Given the description of an element on the screen output the (x, y) to click on. 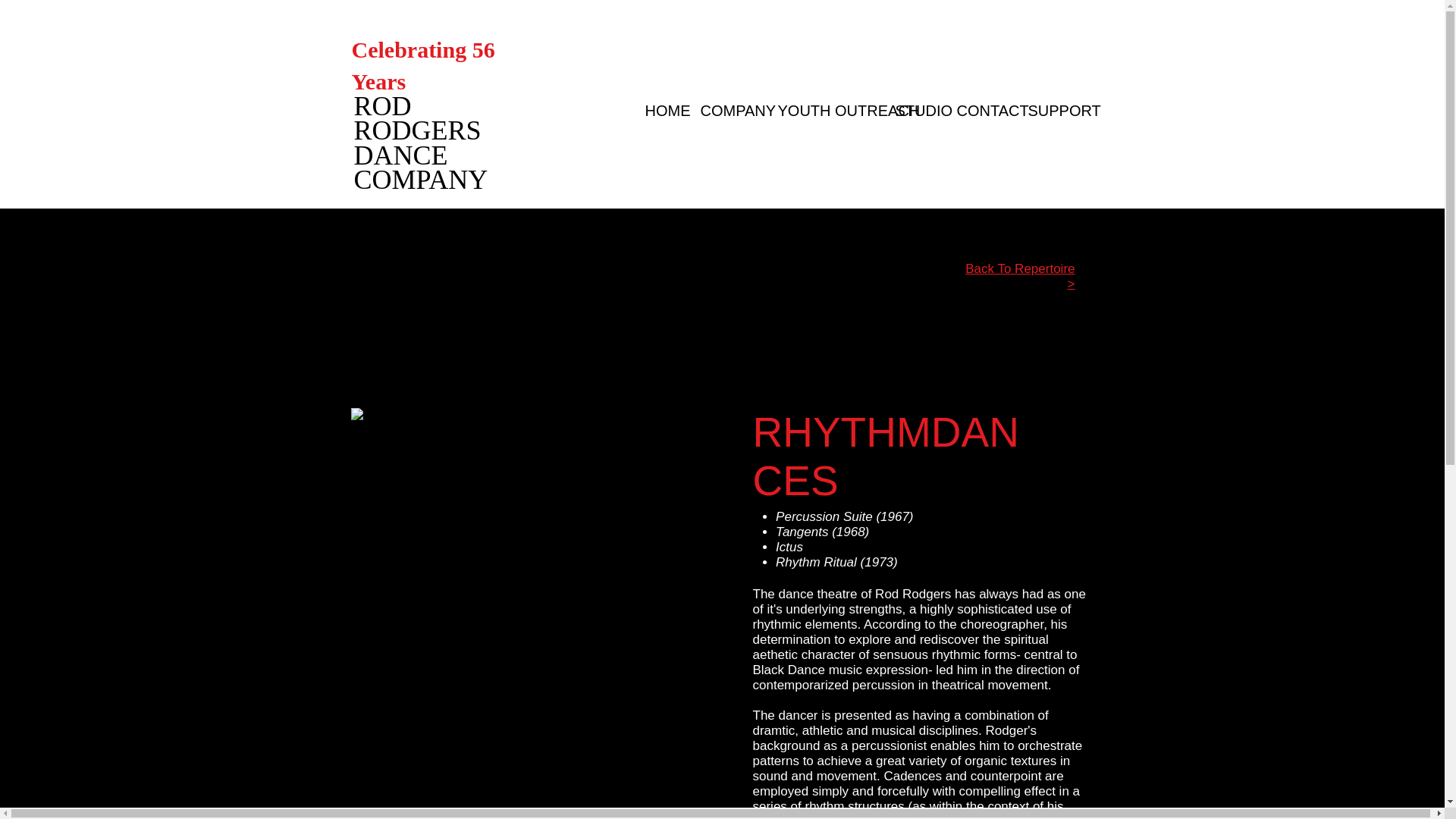
CONTACT (980, 110)
HOME (660, 110)
SUPPORT (1051, 110)
